Given the description of an element on the screen output the (x, y) to click on. 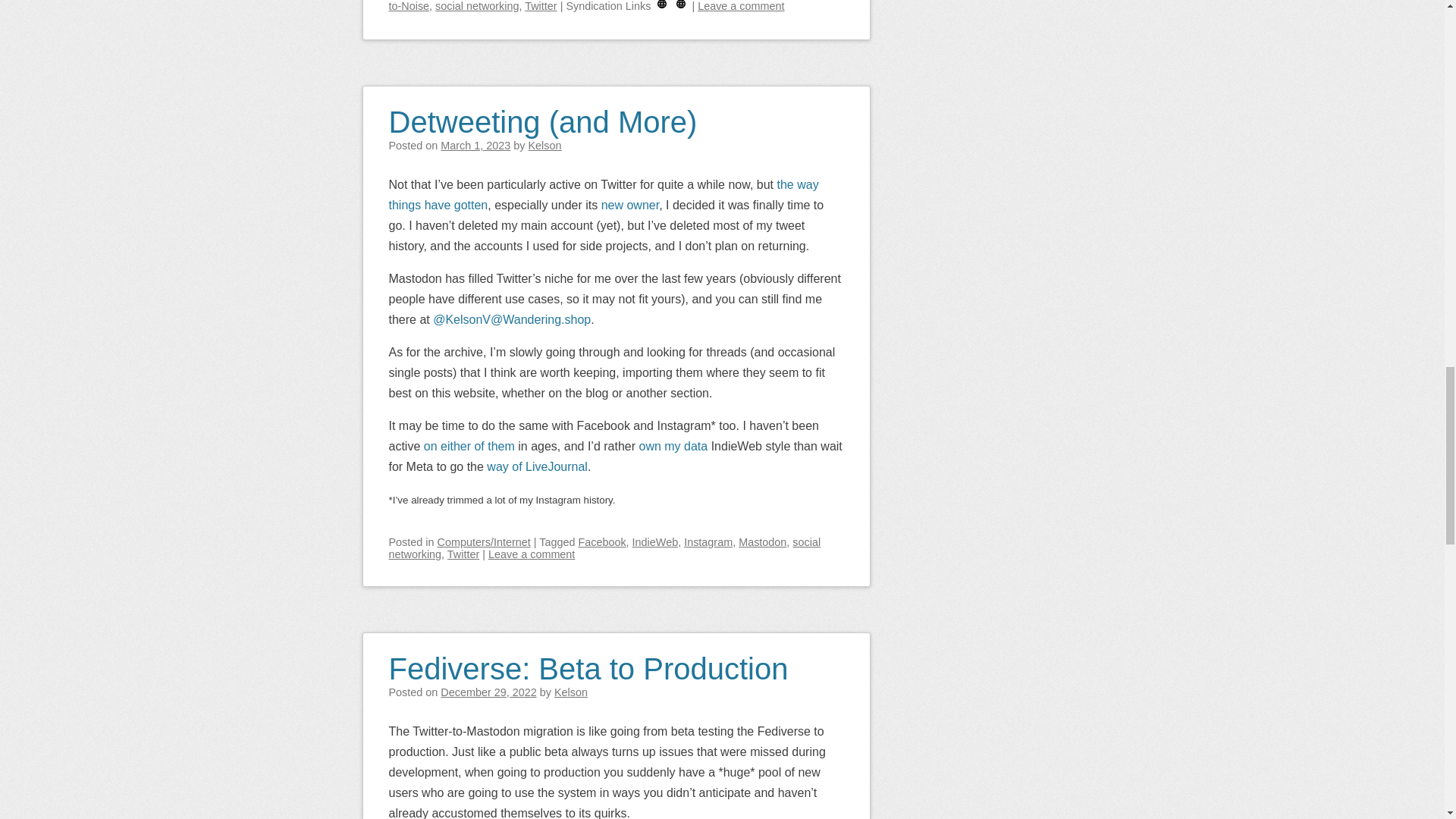
website (662, 6)
website (681, 6)
